Given the description of an element on the screen output the (x, y) to click on. 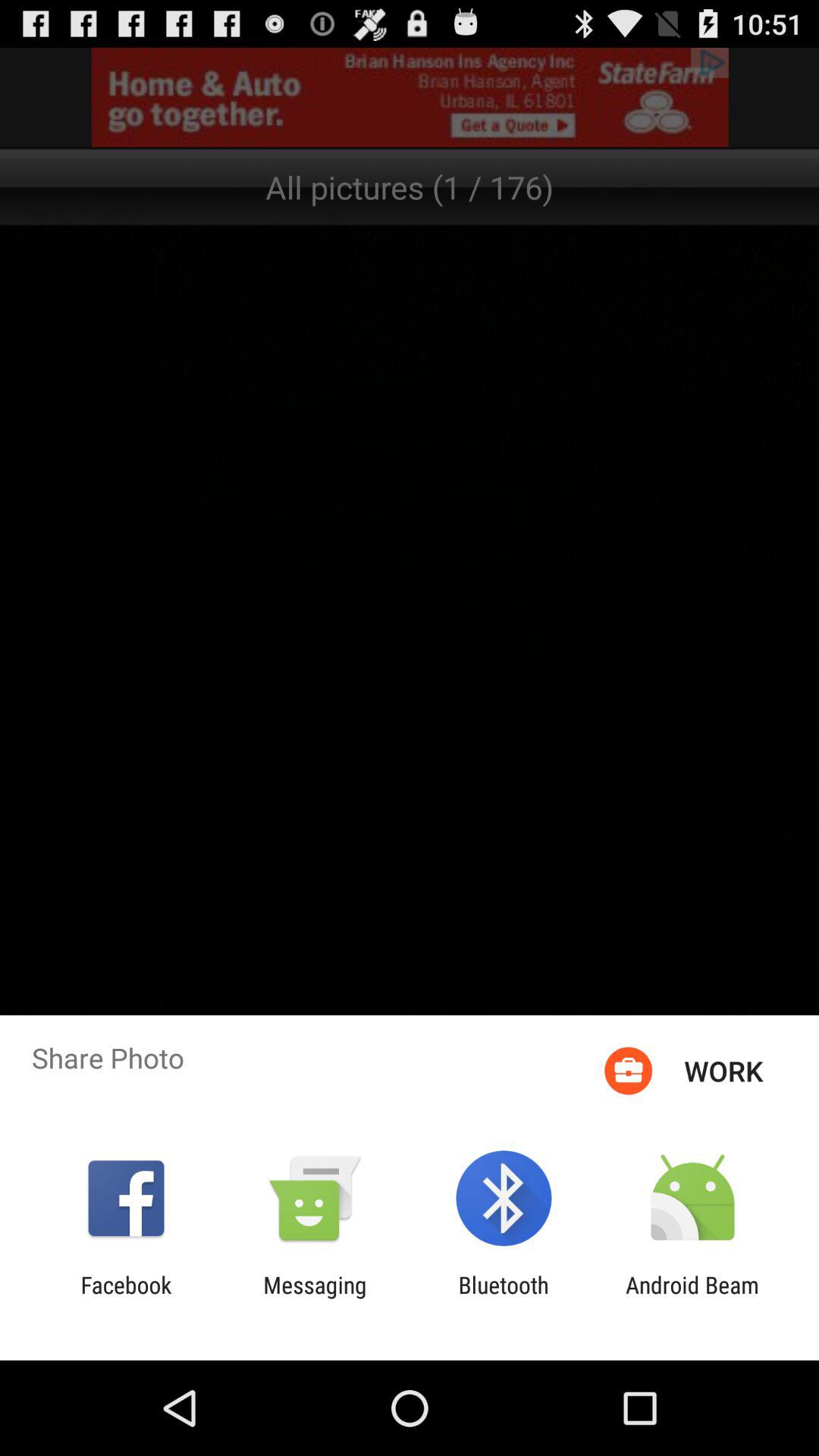
turn on the icon next to bluetooth (314, 1298)
